Given the description of an element on the screen output the (x, y) to click on. 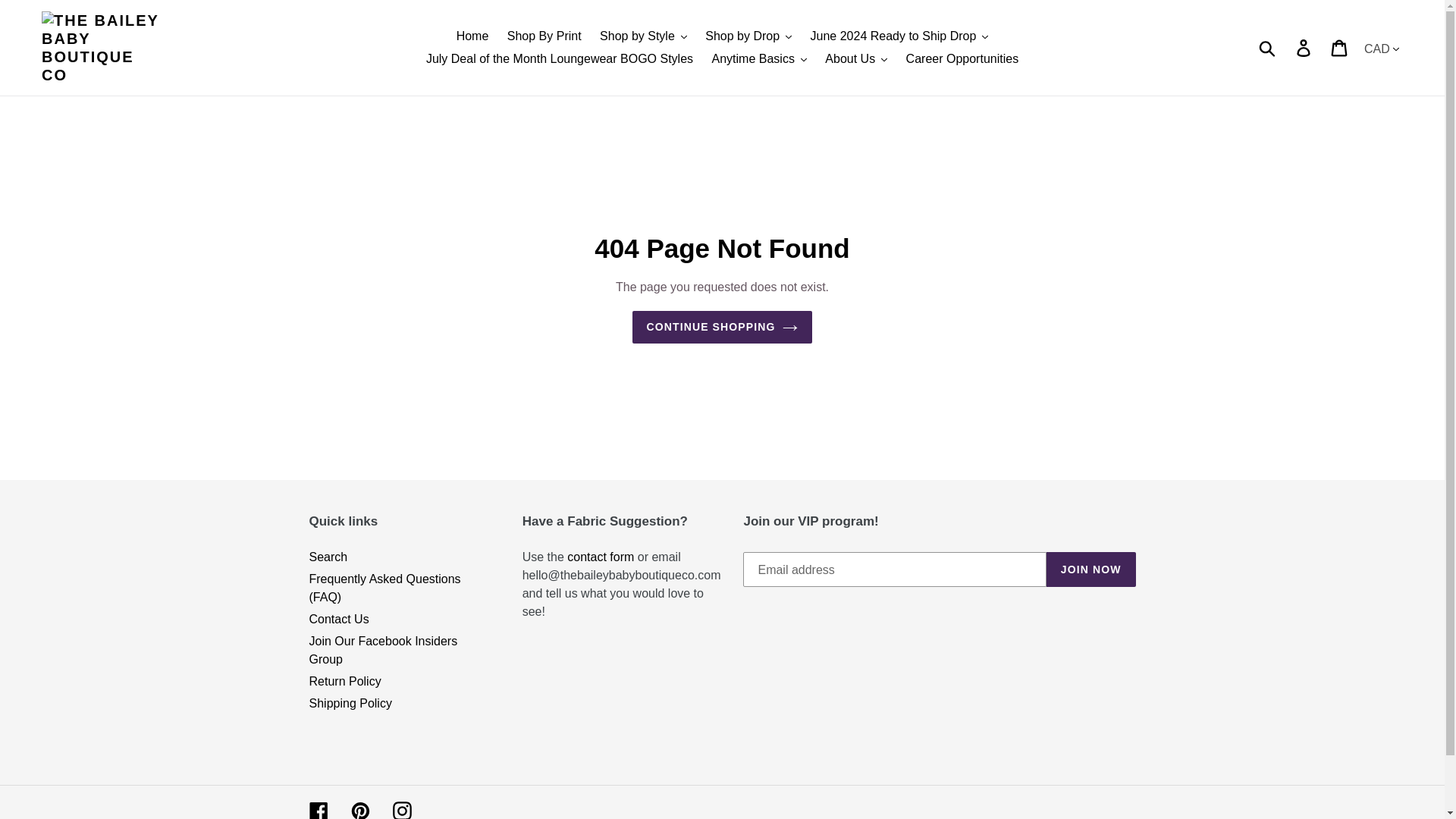
Submit (1268, 47)
July Deal of the Month Loungewear BOGO Styles (559, 58)
Career Opportunities (962, 58)
Log in (1304, 47)
Shop By Print (544, 36)
Home (472, 36)
Contact Us (600, 556)
Cart (1340, 47)
